Given the description of an element on the screen output the (x, y) to click on. 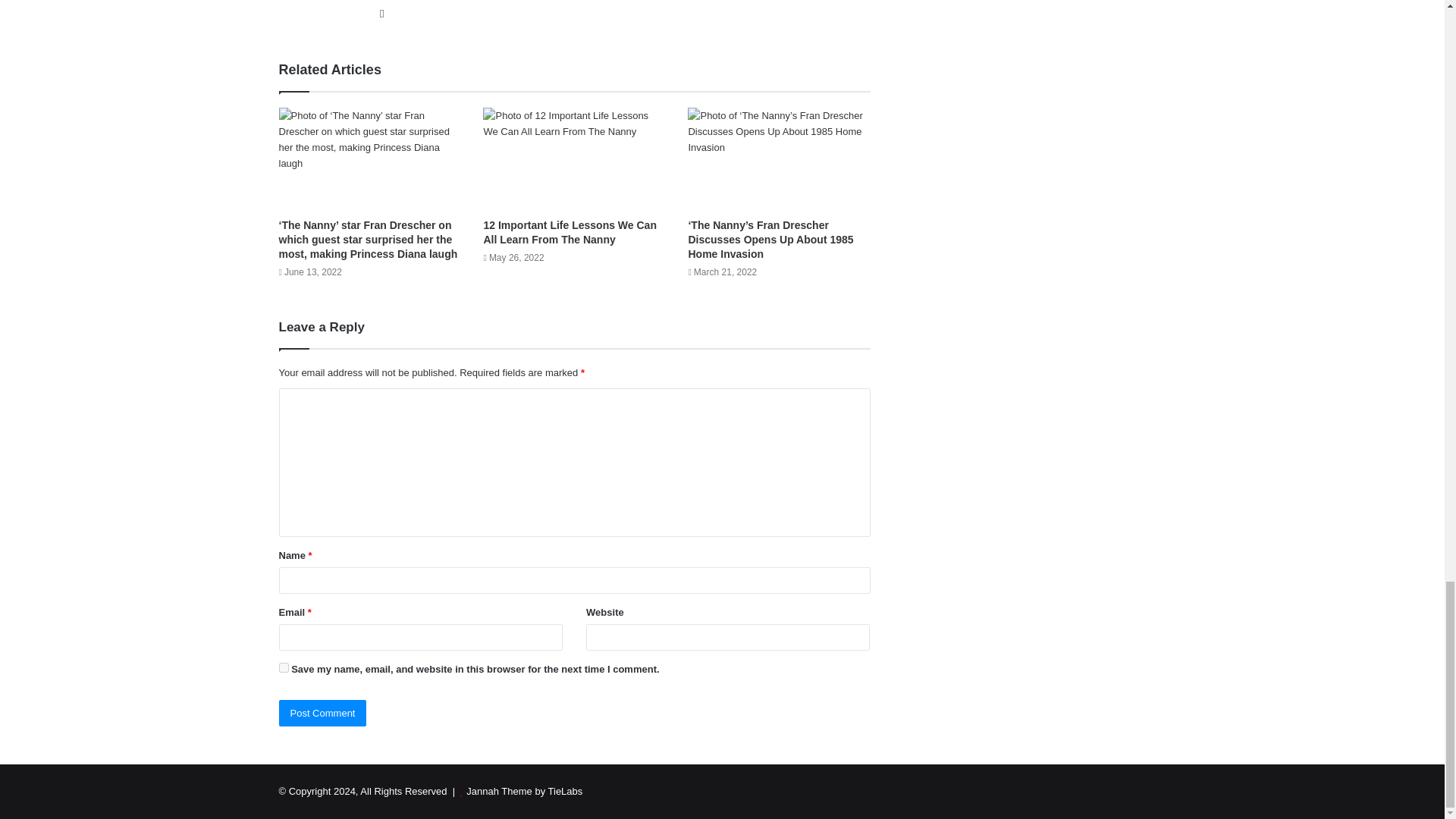
Website (381, 13)
yes (283, 667)
Post Comment (322, 713)
